Given the description of an element on the screen output the (x, y) to click on. 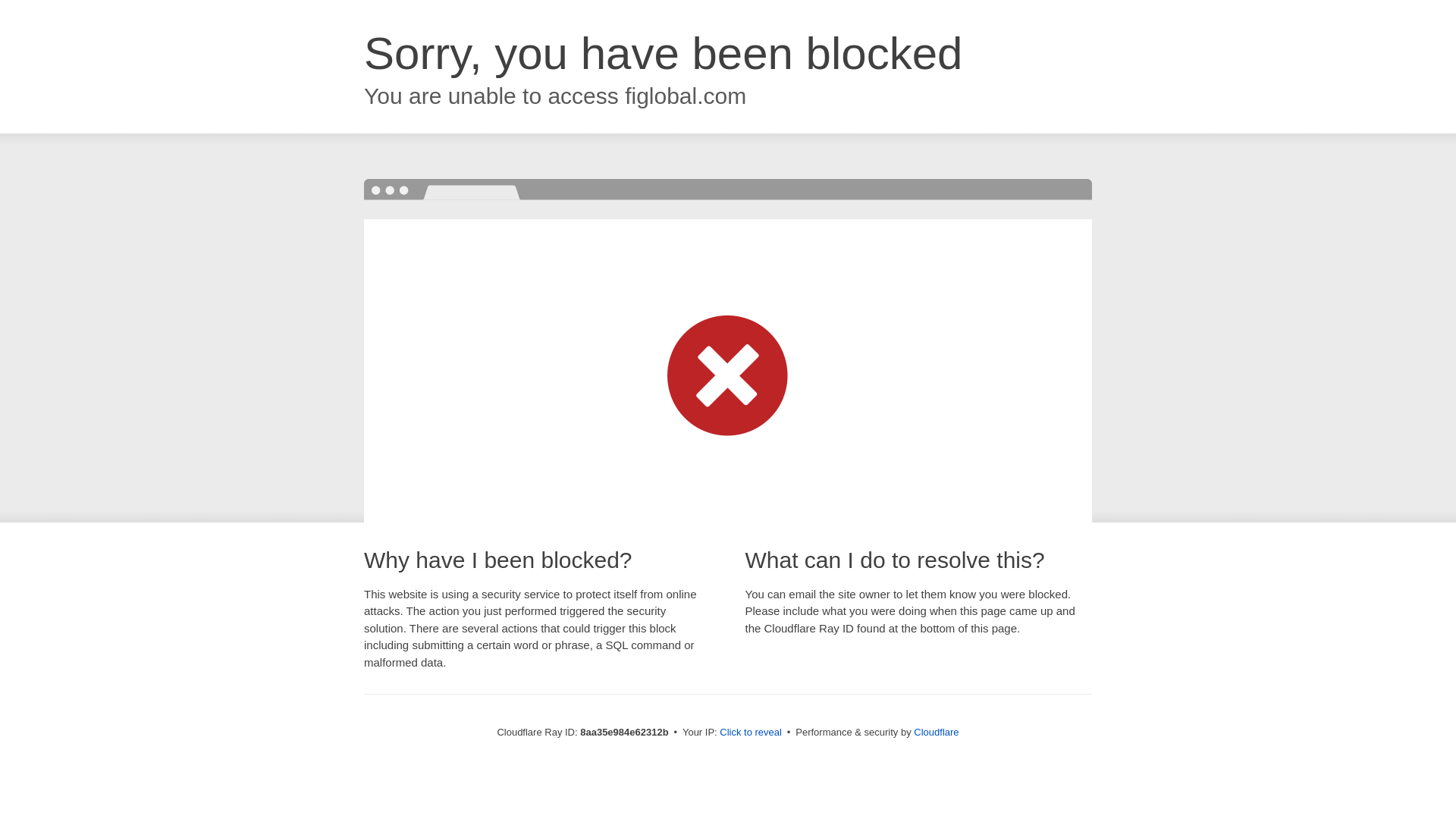
Click to reveal (750, 732)
Cloudflare (936, 731)
